Given the description of an element on the screen output the (x, y) to click on. 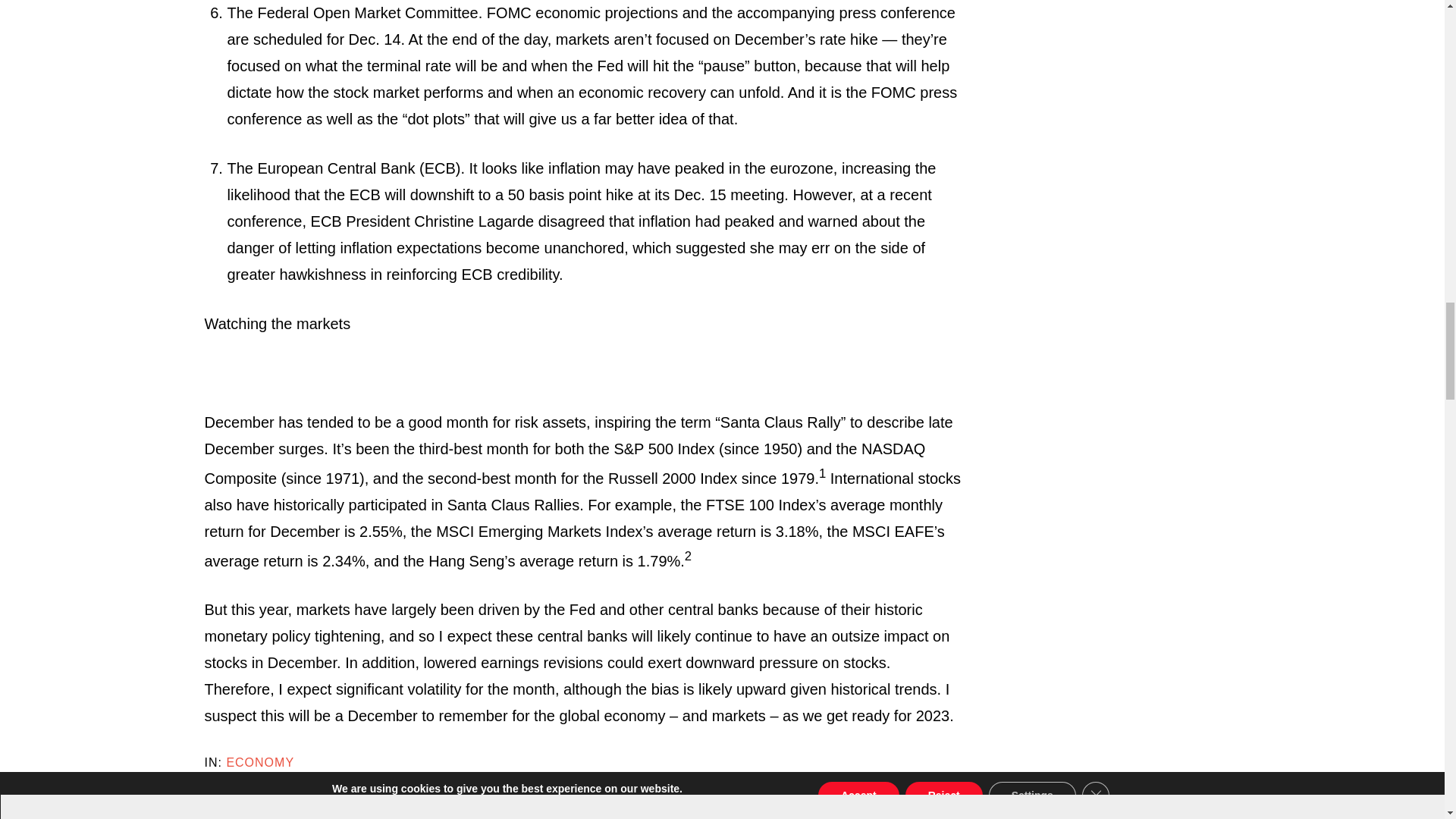
Share on LinkedIn (216, 796)
ECONOMY (259, 762)
